Given the description of an element on the screen output the (x, y) to click on. 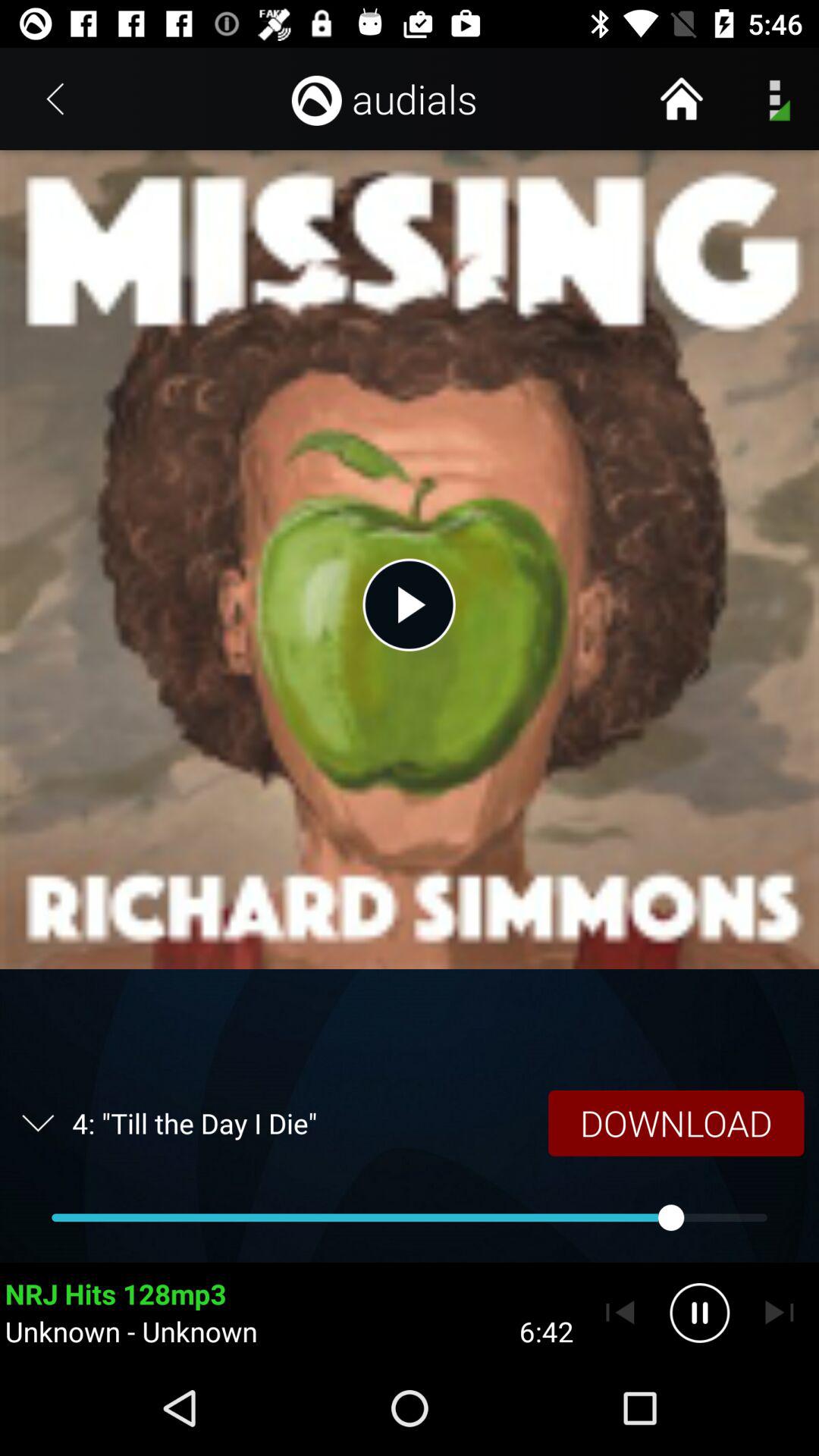
select icon to the right of 4 till the (676, 1123)
